Given the description of an element on the screen output the (x, y) to click on. 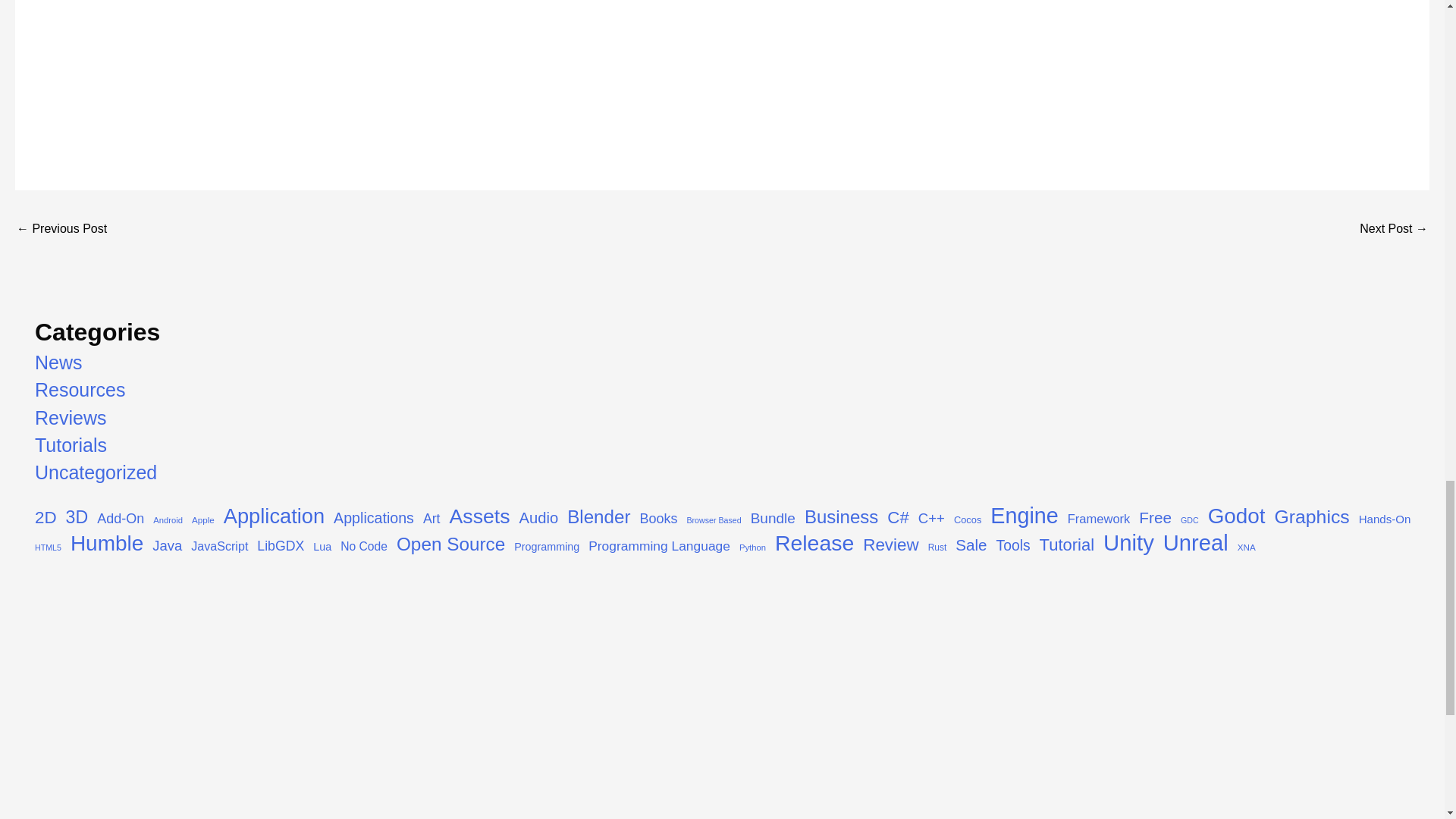
2D (45, 517)
Reviews (70, 417)
Amazon AWS Join Blender As Corporate Sponsor (1393, 230)
News (58, 362)
Uncategorized (95, 472)
3D (76, 517)
Resources (79, 389)
Tutorials (70, 444)
Phaser 3.50 Released (61, 230)
